Given the description of an element on the screen output the (x, y) to click on. 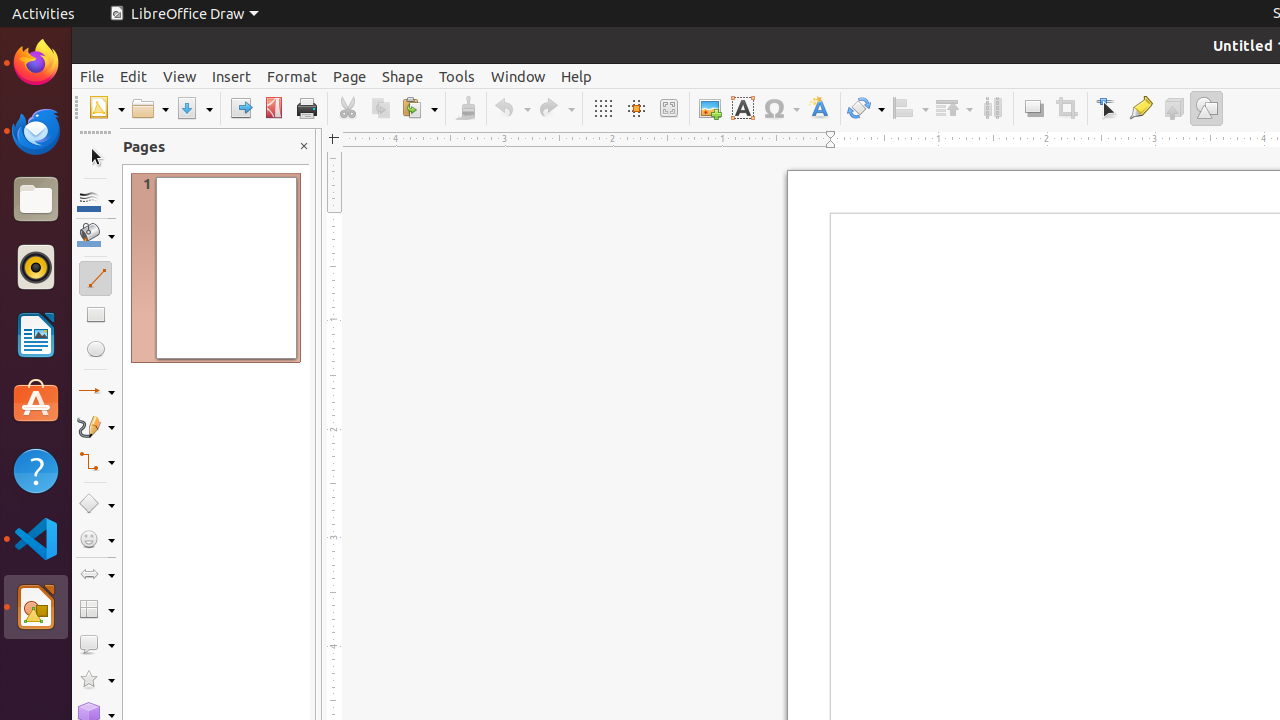
Redo Element type: push-button (556, 108)
Open Element type: push-button (150, 108)
Tools Element type: menu (457, 76)
View Element type: menu (179, 76)
Export Element type: push-button (240, 108)
